Given the description of an element on the screen output the (x, y) to click on. 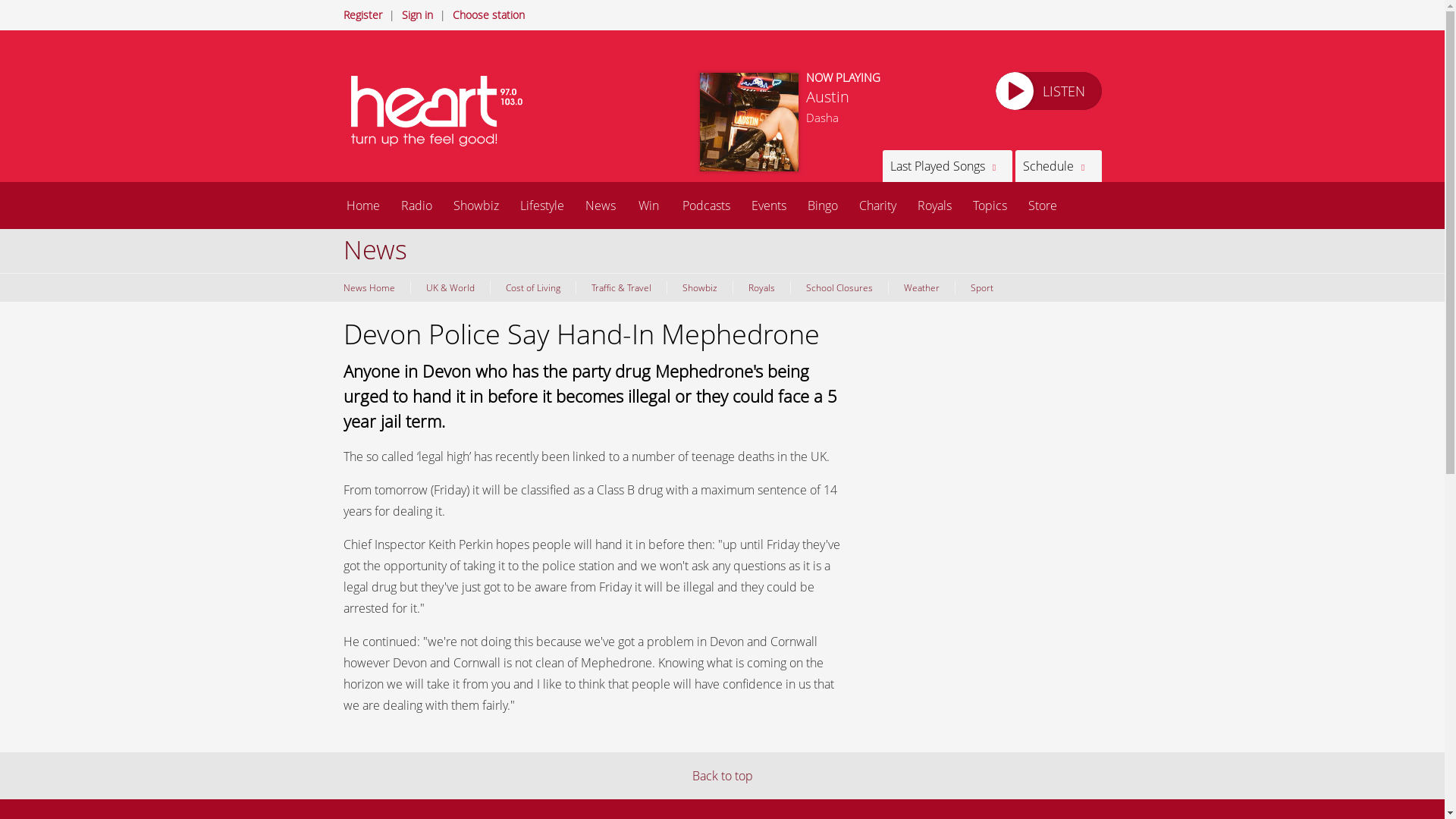
Schedule (1057, 165)
Last Played Songs (946, 165)
Showbiz (475, 205)
Home (362, 205)
Bingo (821, 205)
Heart Exeter (441, 111)
Back to top (721, 775)
Weather (919, 287)
School Closures (839, 287)
